Given the description of an element on the screen output the (x, y) to click on. 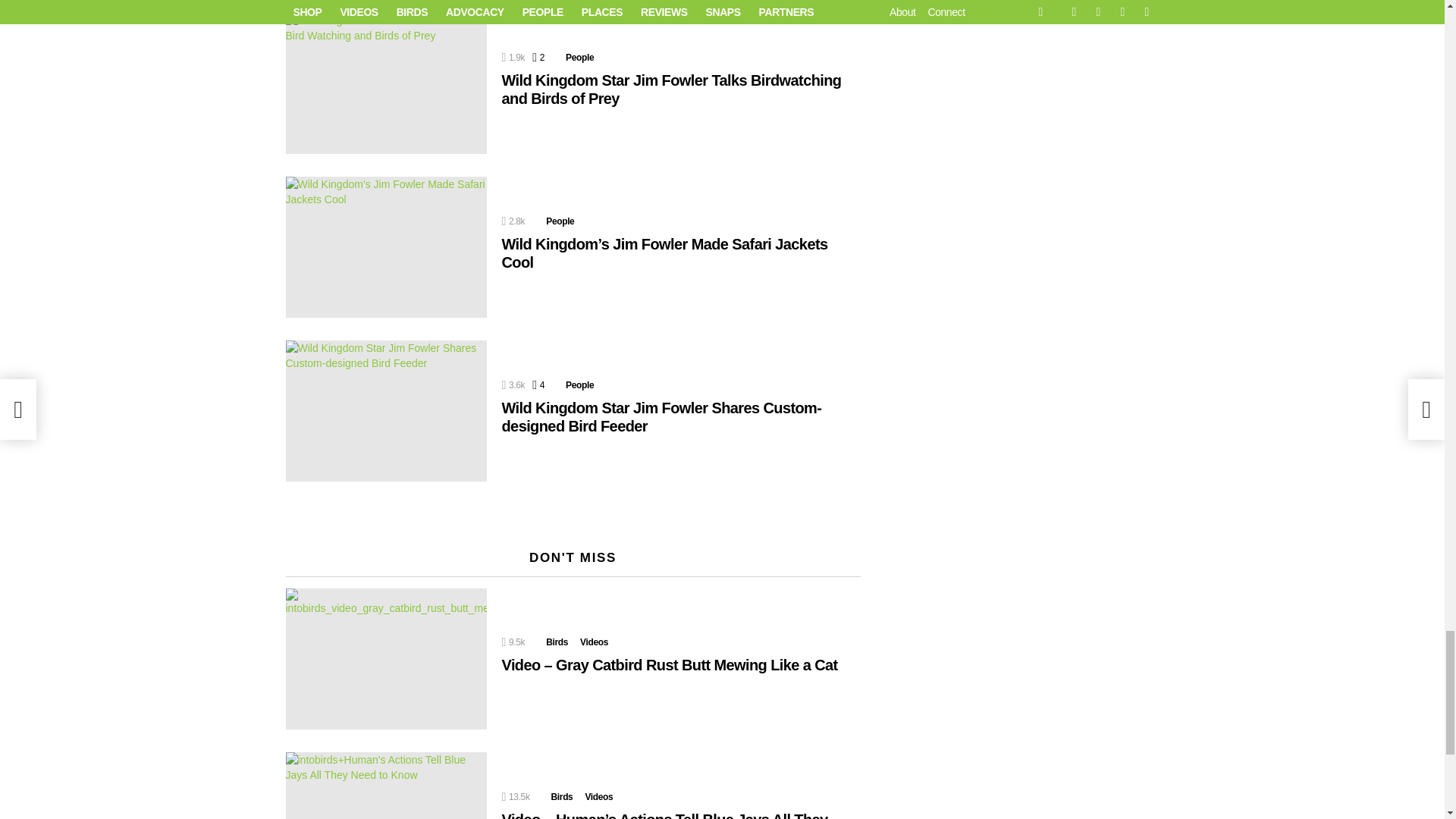
People (579, 57)
